Given the description of an element on the screen output the (x, y) to click on. 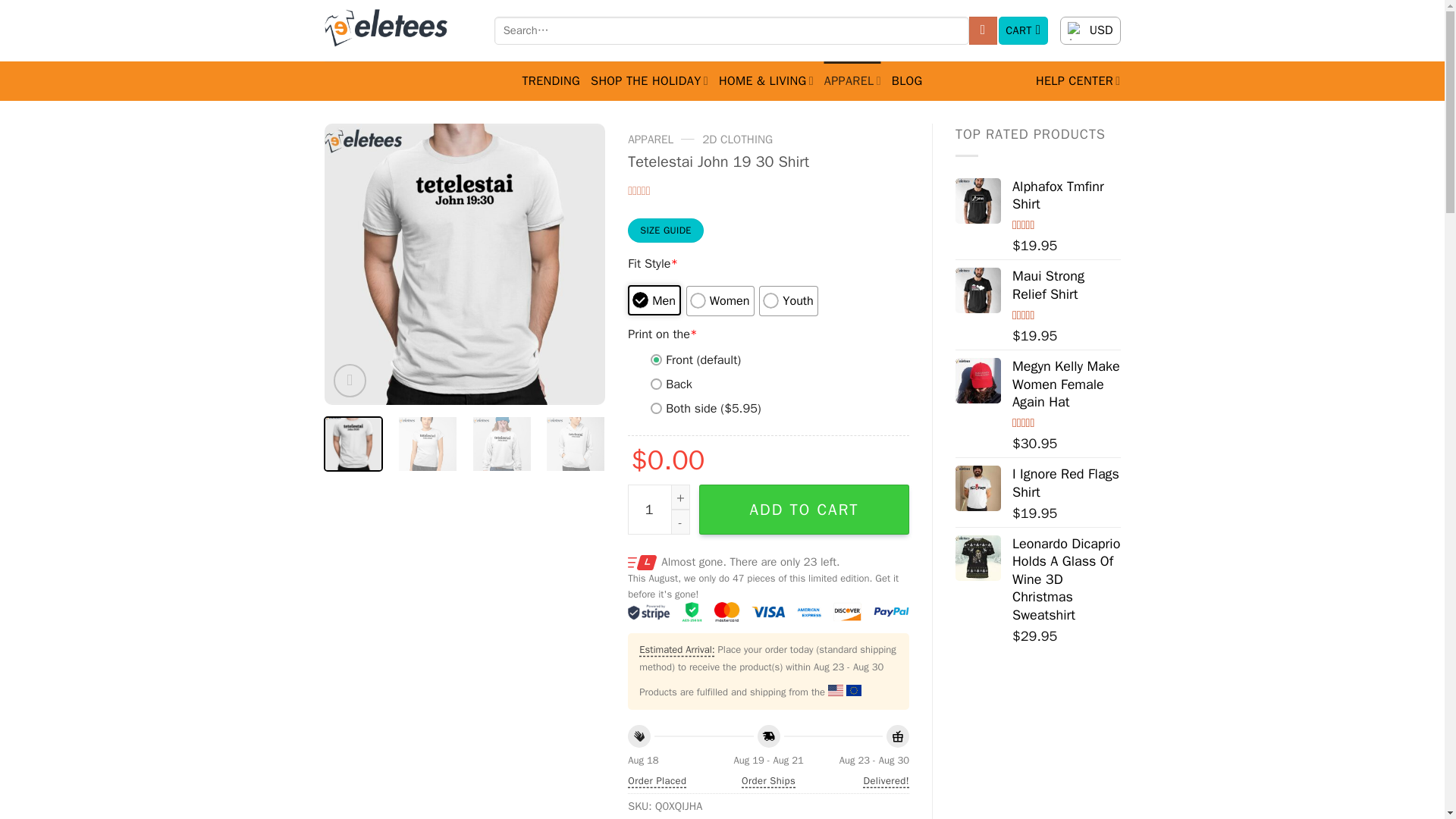
Tetelestai John 19 30 Shirt (745, 263)
Search (983, 30)
Eletees - Clothes that make a statement (397, 30)
TRENDING (550, 80)
Maui Strong Relief Shirt (978, 289)
Megyn Kelly Make Women Female Again Hat (978, 380)
SHOP THE HOLIDAY (649, 80)
Tetelestai John 19 30 Shirt (464, 263)
CART (1023, 30)
